Given the description of an element on the screen output the (x, y) to click on. 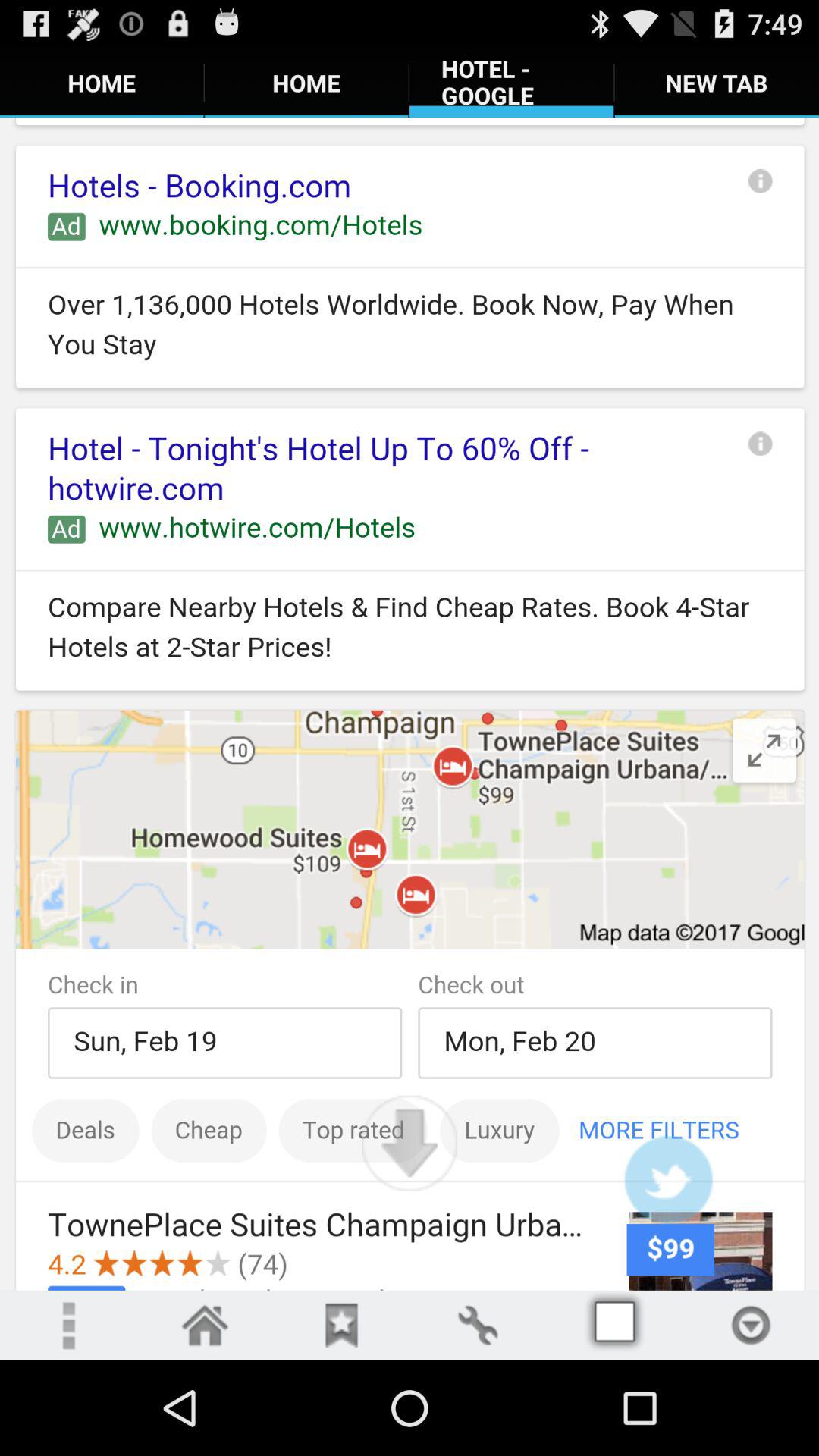
menu (68, 1325)
